Given the description of an element on the screen output the (x, y) to click on. 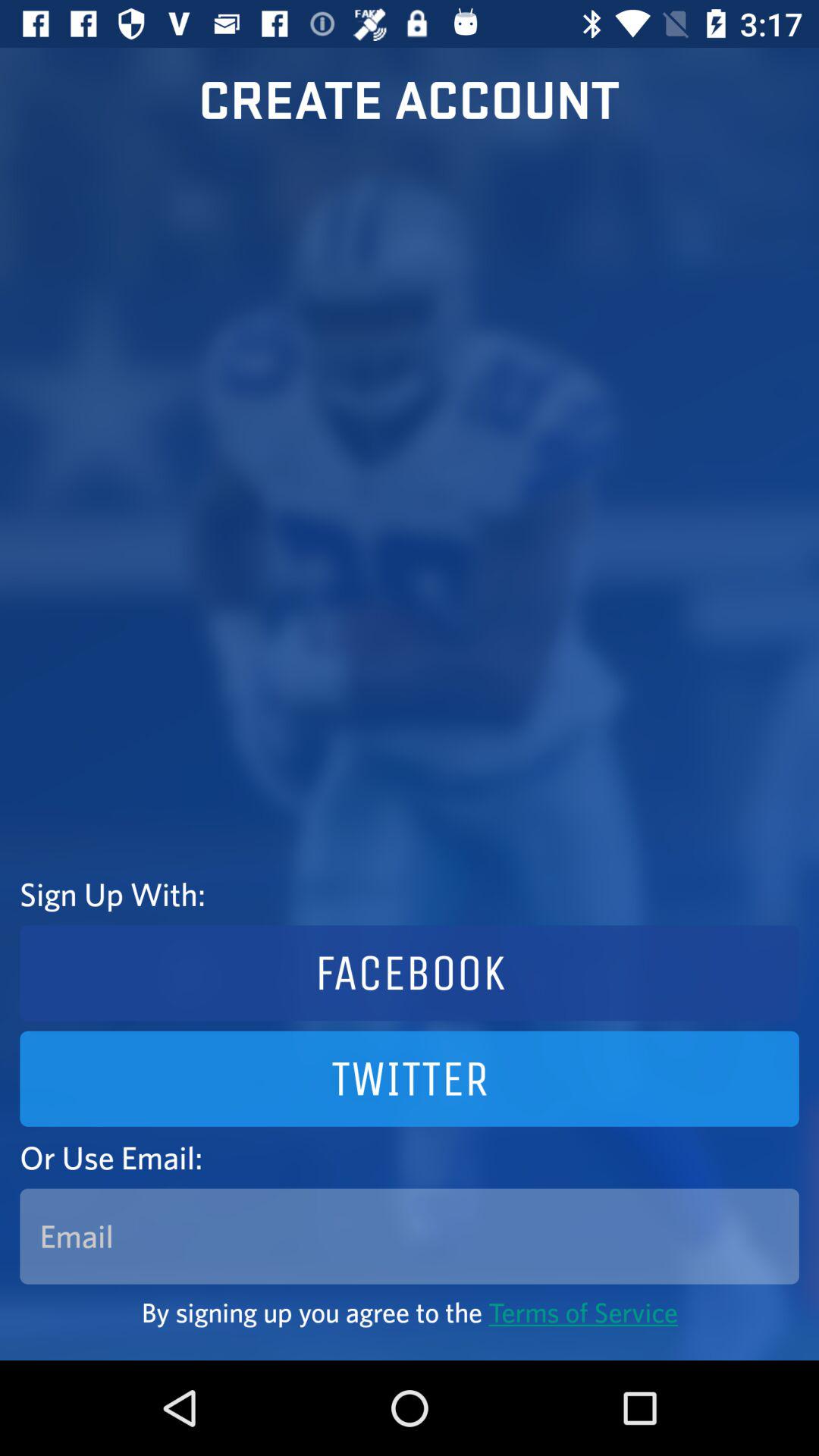
press by signing up (409, 1312)
